Given the description of an element on the screen output the (x, y) to click on. 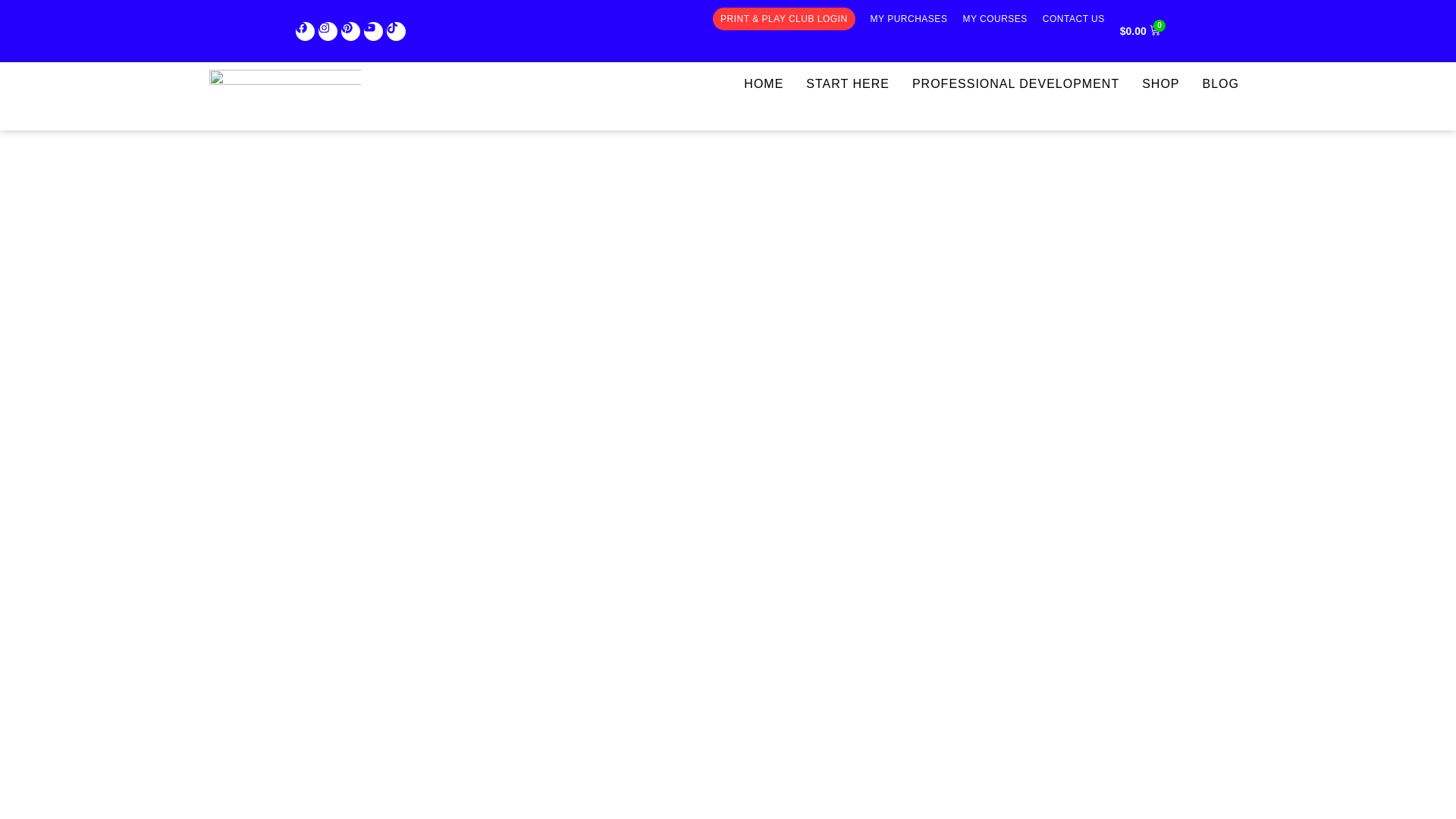
BLOG (1220, 83)
HOME (763, 83)
SHOP (1160, 83)
START HERE (846, 83)
PROFESSIONAL DEVELOPMENT (1015, 83)
MY PURCHASES (908, 18)
MY COURSES (994, 18)
CONTACT US (1073, 18)
